Given the description of an element on the screen output the (x, y) to click on. 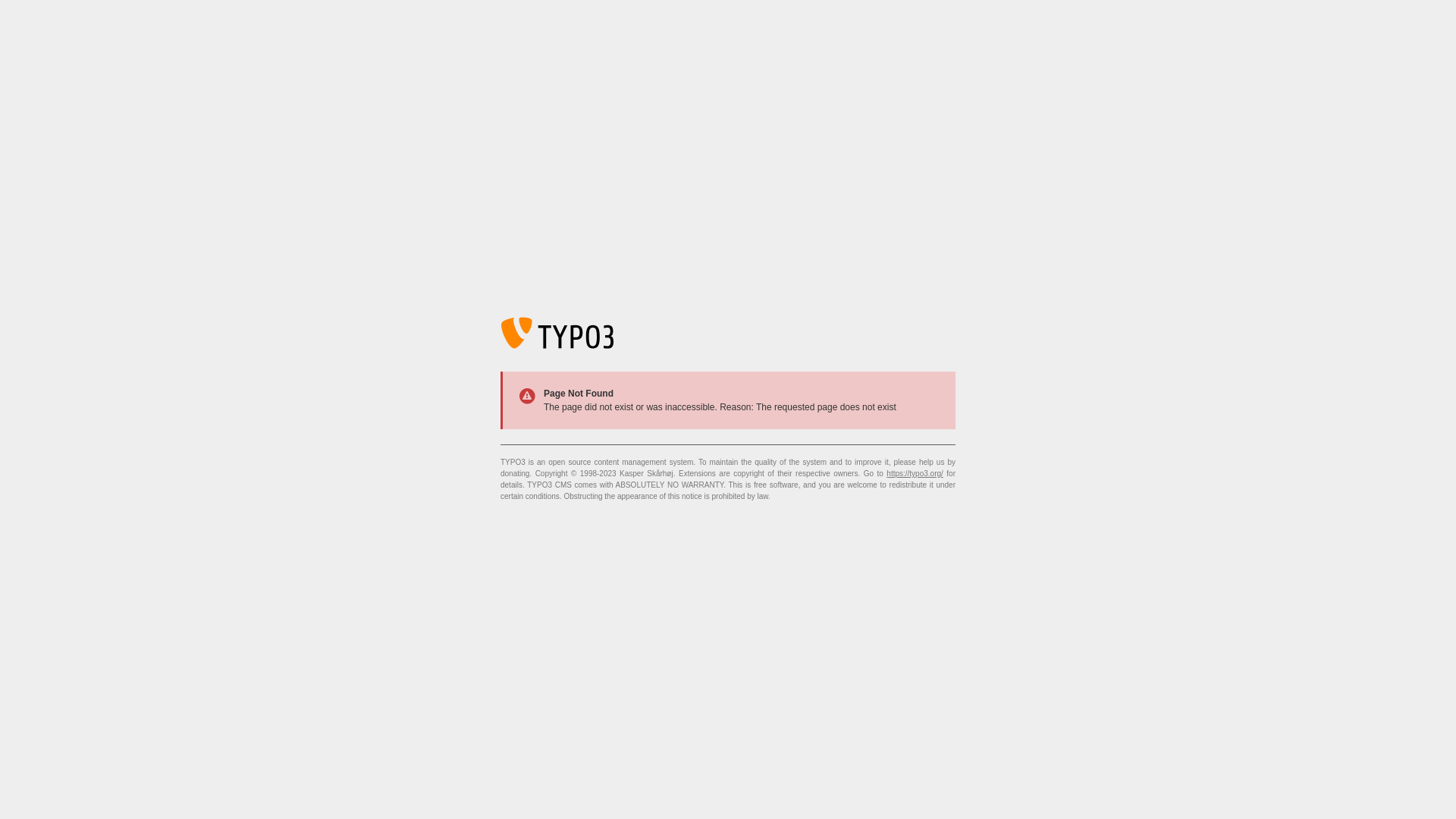
https://typo3.org/ Element type: text (914, 473)
